Given the description of an element on the screen output the (x, y) to click on. 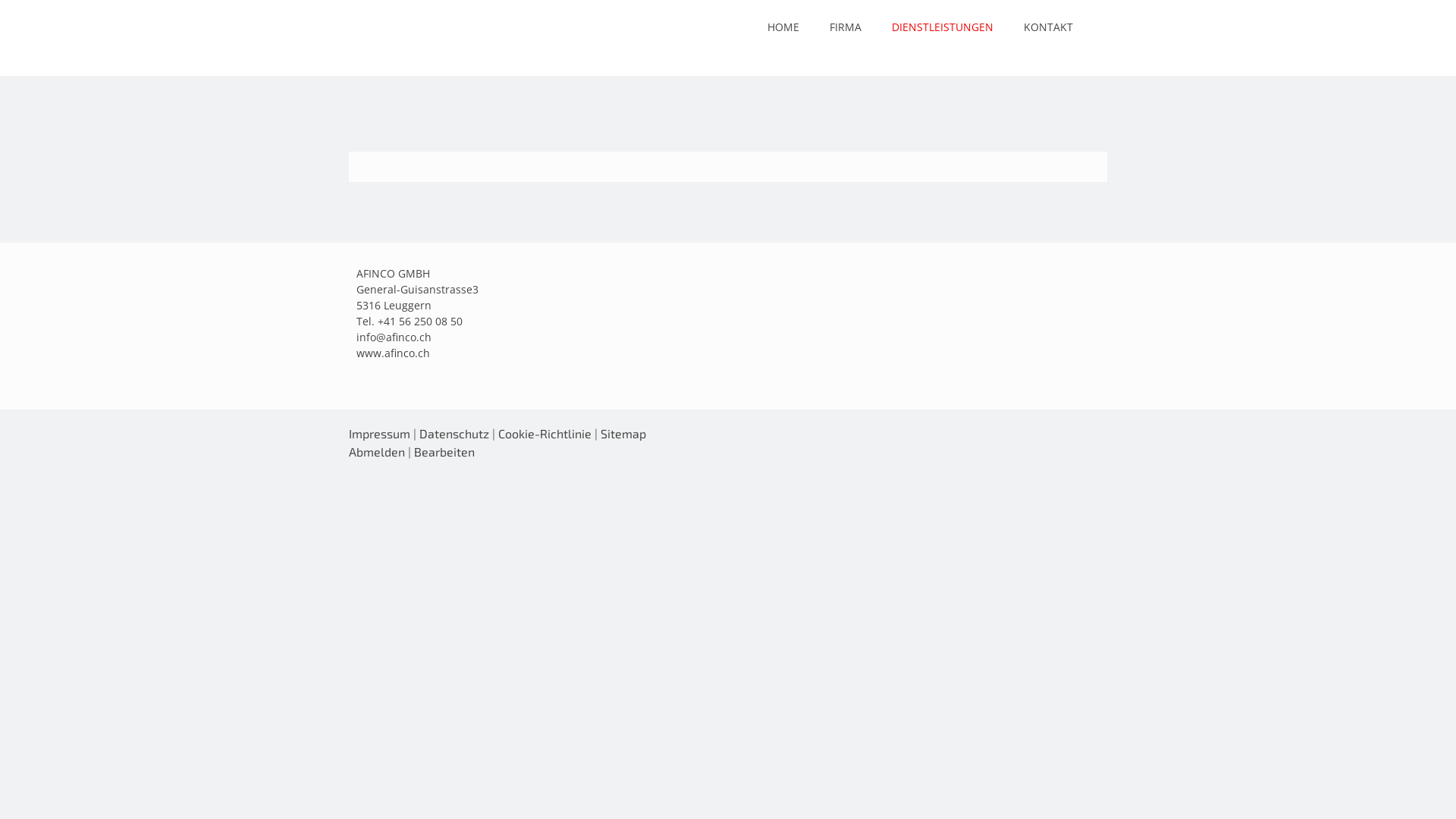
KONTAKT Element type: text (1048, 27)
Cookie-Richtlinie Element type: text (544, 433)
Sitemap Element type: text (623, 433)
DIENSTLEISTUNGEN Element type: text (942, 27)
Impressum Element type: text (379, 433)
HOME Element type: text (783, 27)
FIRMA Element type: text (845, 27)
Bearbeiten Element type: text (444, 451)
Datenschutz Element type: text (454, 433)
www.afinco.ch Element type: text (392, 352)
Abmelden Element type: text (377, 451)
info@afinco.ch Element type: text (393, 336)
